Given the description of an element on the screen output the (x, y) to click on. 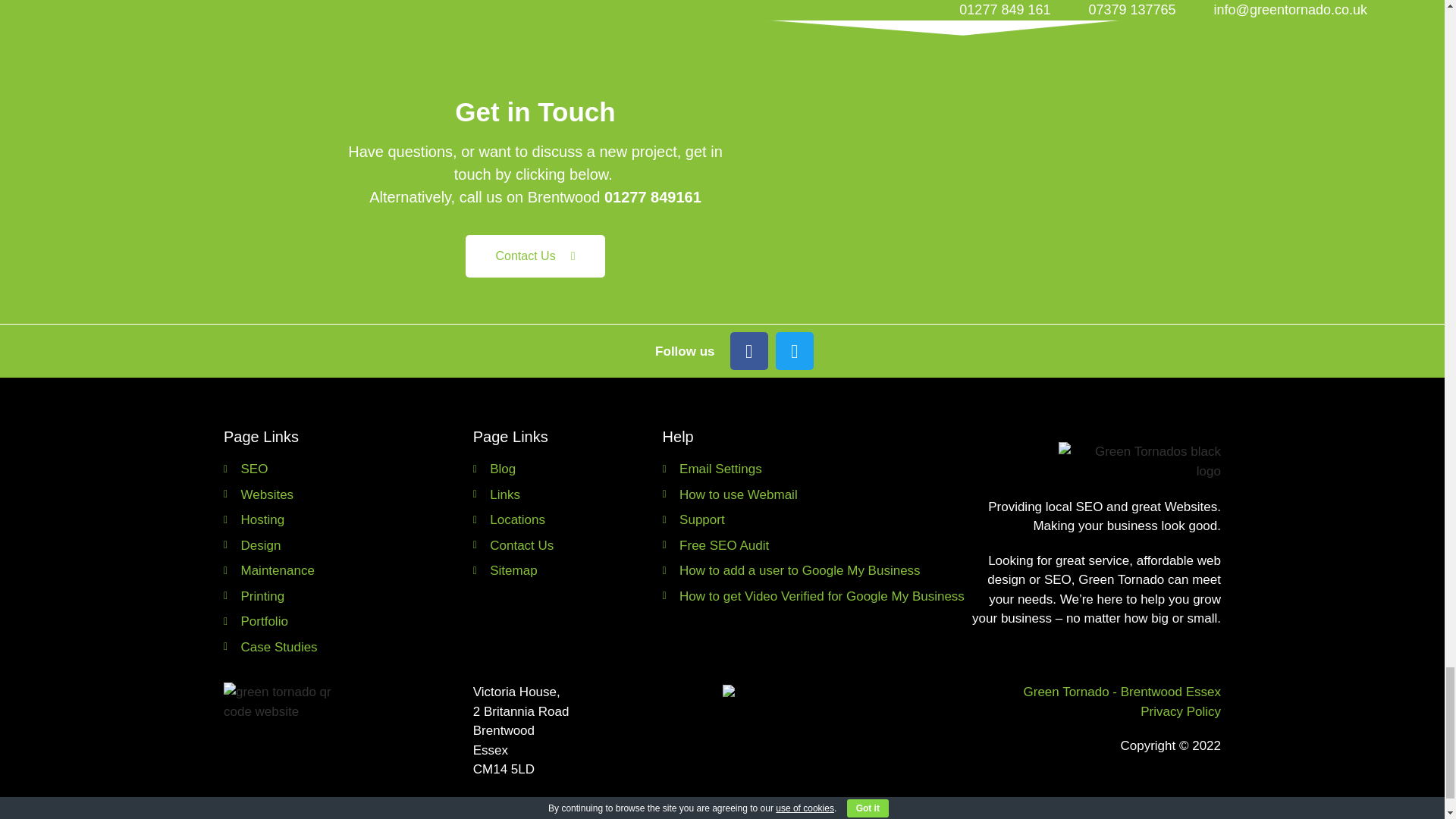
Green Tornado (1002, 188)
